Given the description of an element on the screen output the (x, y) to click on. 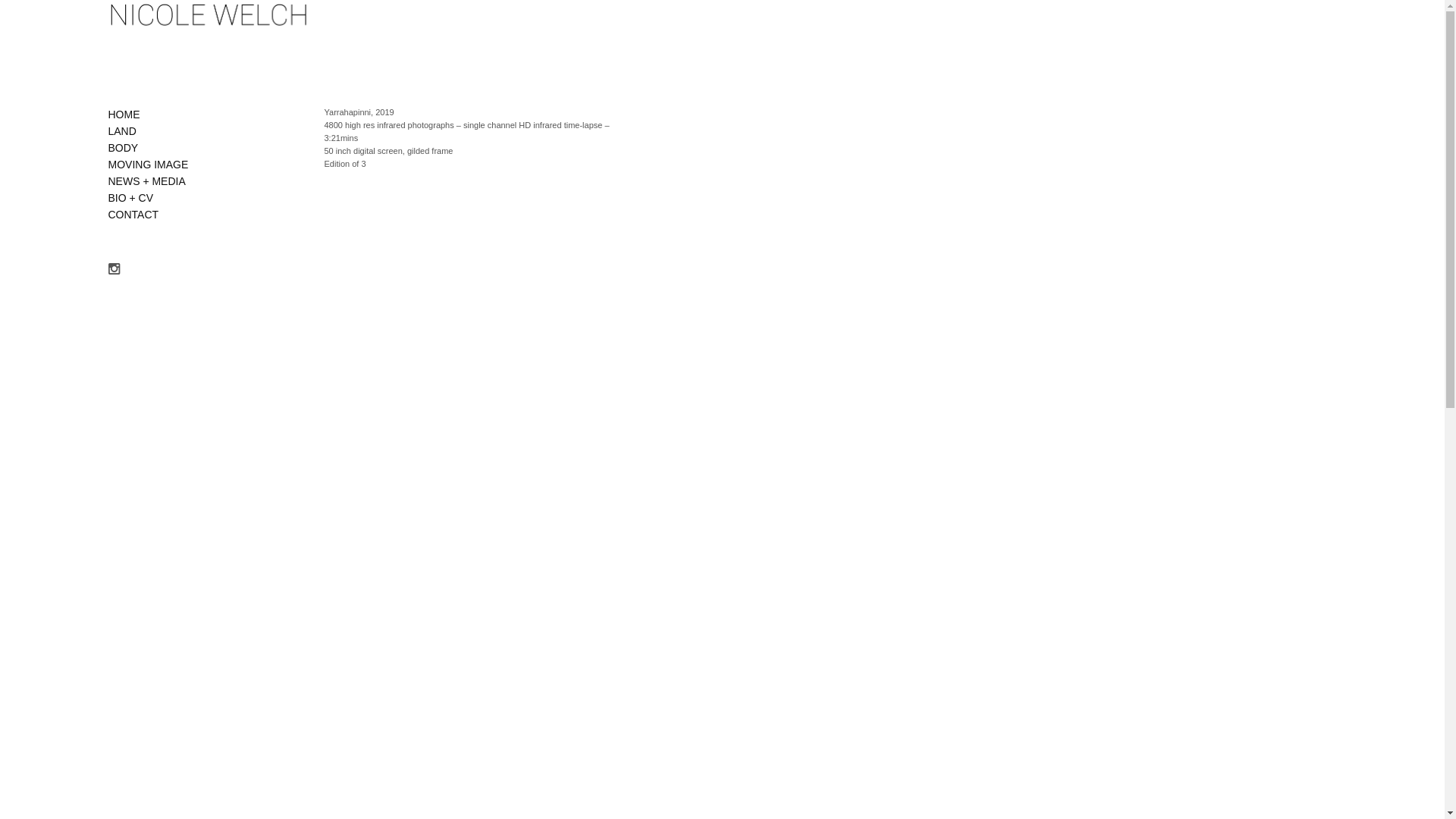
BIO + CV Element type: text (130, 197)
CONTACT Element type: text (132, 214)
HOME Element type: text (123, 114)
MOVING IMAGE Element type: text (147, 164)
BODY Element type: text (122, 147)
LAND Element type: text (121, 131)
NEWS + MEDIA Element type: text (146, 181)
